Given the description of an element on the screen output the (x, y) to click on. 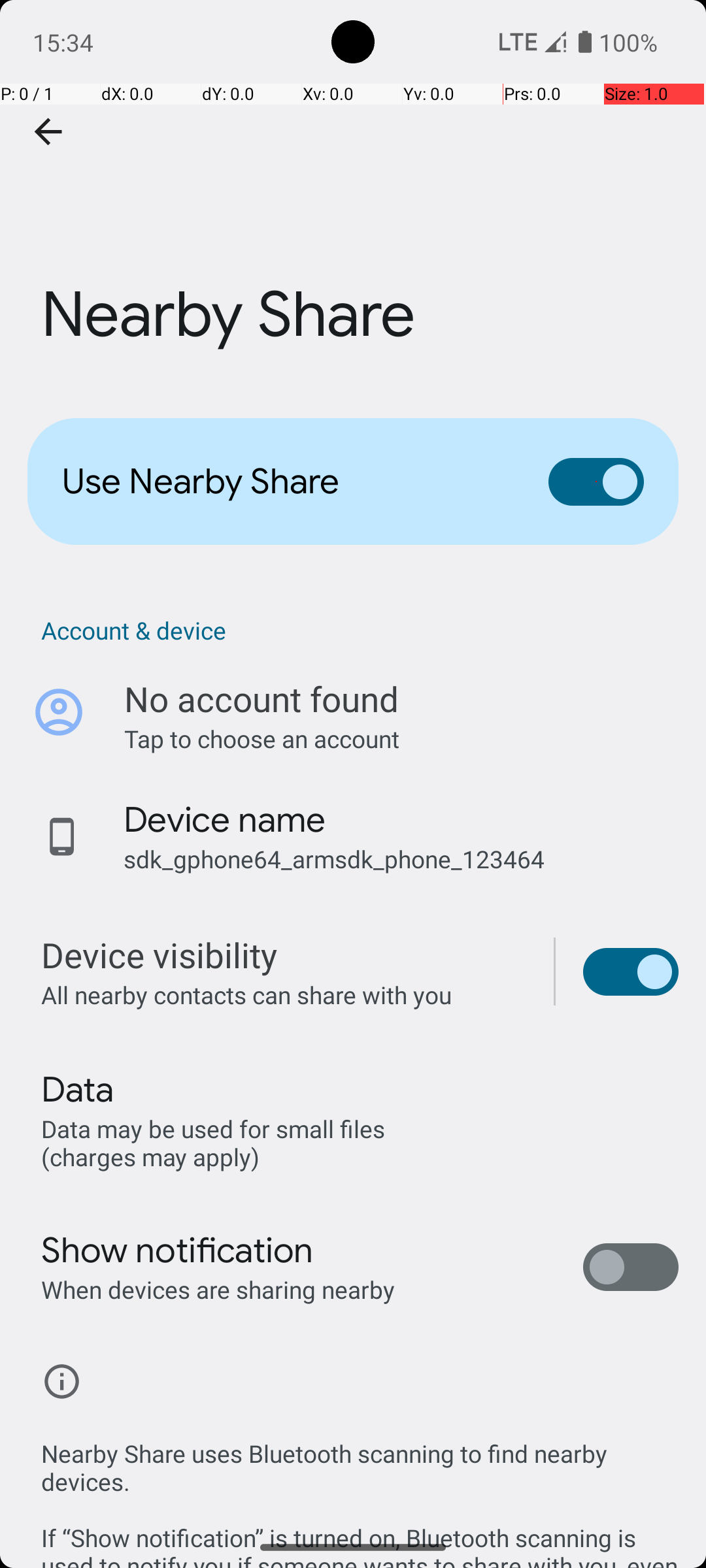
Nearby Share Element type: android.widget.FrameLayout (353, 195)
Use Nearby Share Element type: android.widget.TextView (284, 481)
Account & device Element type: android.widget.TextView (359, 629)
No account found Element type: android.widget.TextView (261, 698)
Tap to choose an account Element type: android.widget.TextView (401, 738)
sdk_gphone64_armsdk_phone_123464 Element type: android.widget.TextView (333, 858)
Data Element type: android.widget.TextView (77, 1089)
Data may be used for small files 
(charges may apply) Element type: android.widget.TextView (215, 1142)
Show notification Element type: android.widget.TextView (177, 1250)
When devices are sharing nearby Element type: android.widget.TextView (218, 1289)
Nearby Share uses Bluetooth scanning to find nearby devices. 

If “Show notification” is turned on, Bluetooth scanning is used to notify you if someone wants to share with you, even when Nearby Share is turned off. Element type: android.widget.TextView (359, 1488)
All nearby contacts can share with you Element type: android.widget.TextView (283, 994)
